Given the description of an element on the screen output the (x, y) to click on. 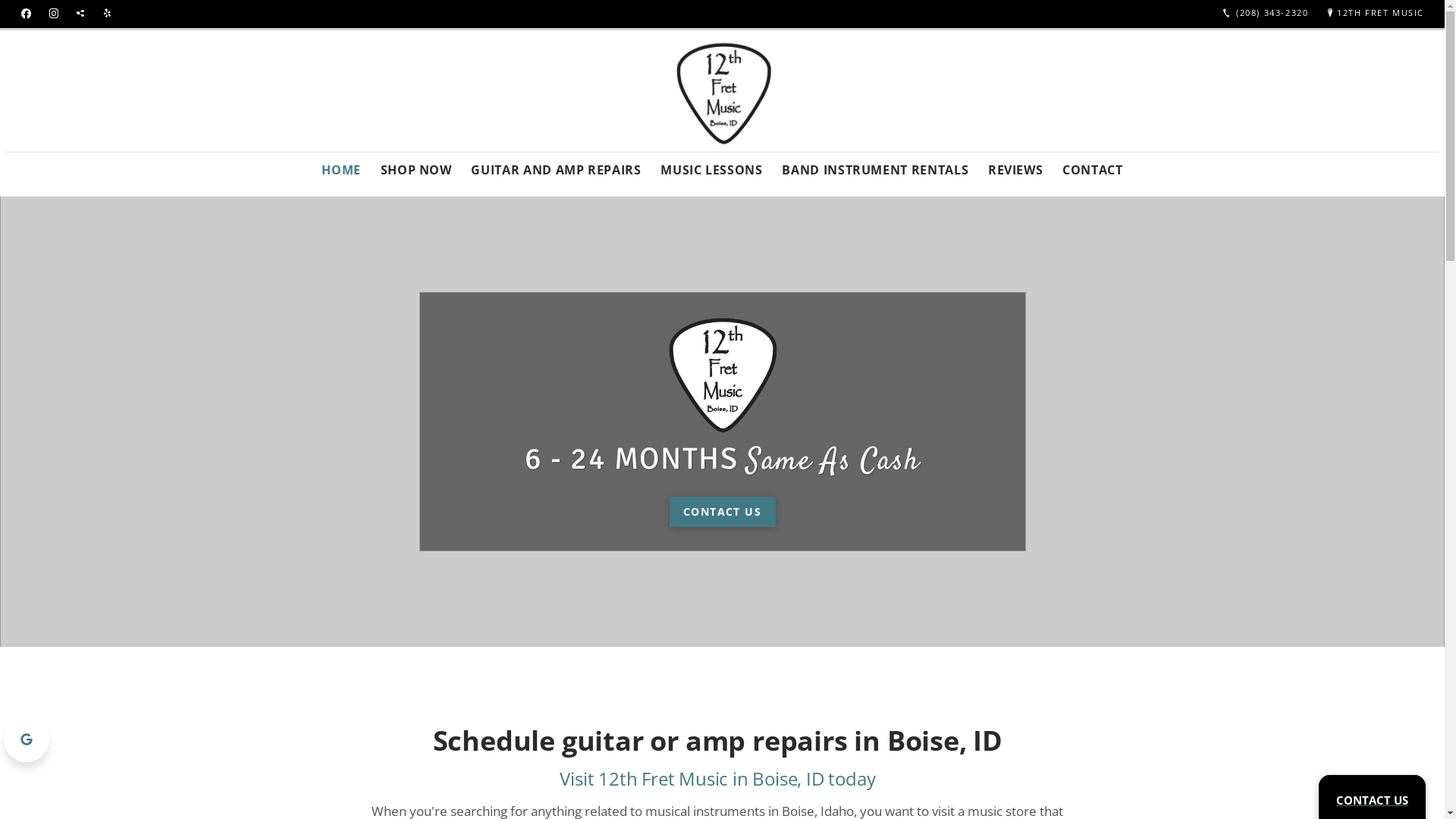
REVIEWS Element type: text (1015, 164)
MUSIC LESSONS Element type: text (710, 164)
Instagram Element type: hover (53, 13)
(208) 343-2320 Element type: text (1264, 13)
Reverb Element type: hover (80, 13)
BAND INSTRUMENT RENTALS Element type: text (875, 164)
SHOP NOW Element type: text (415, 164)
12TH FRET MUSIC Element type: text (1374, 13)
CONTACT US Element type: text (1371, 799)
GUITAR AND AMP REPAIRS Element type: text (556, 164)
Yelp Element type: hover (107, 13)
CONTACT Element type: text (1092, 164)
12th Fret Music Element type: hover (721, 138)
Facebook Element type: hover (26, 13)
6 - 24 MONTHS Same As Cash
CONTACT US Element type: text (722, 421)
HOME Element type: text (341, 164)
